Given the description of an element on the screen output the (x, y) to click on. 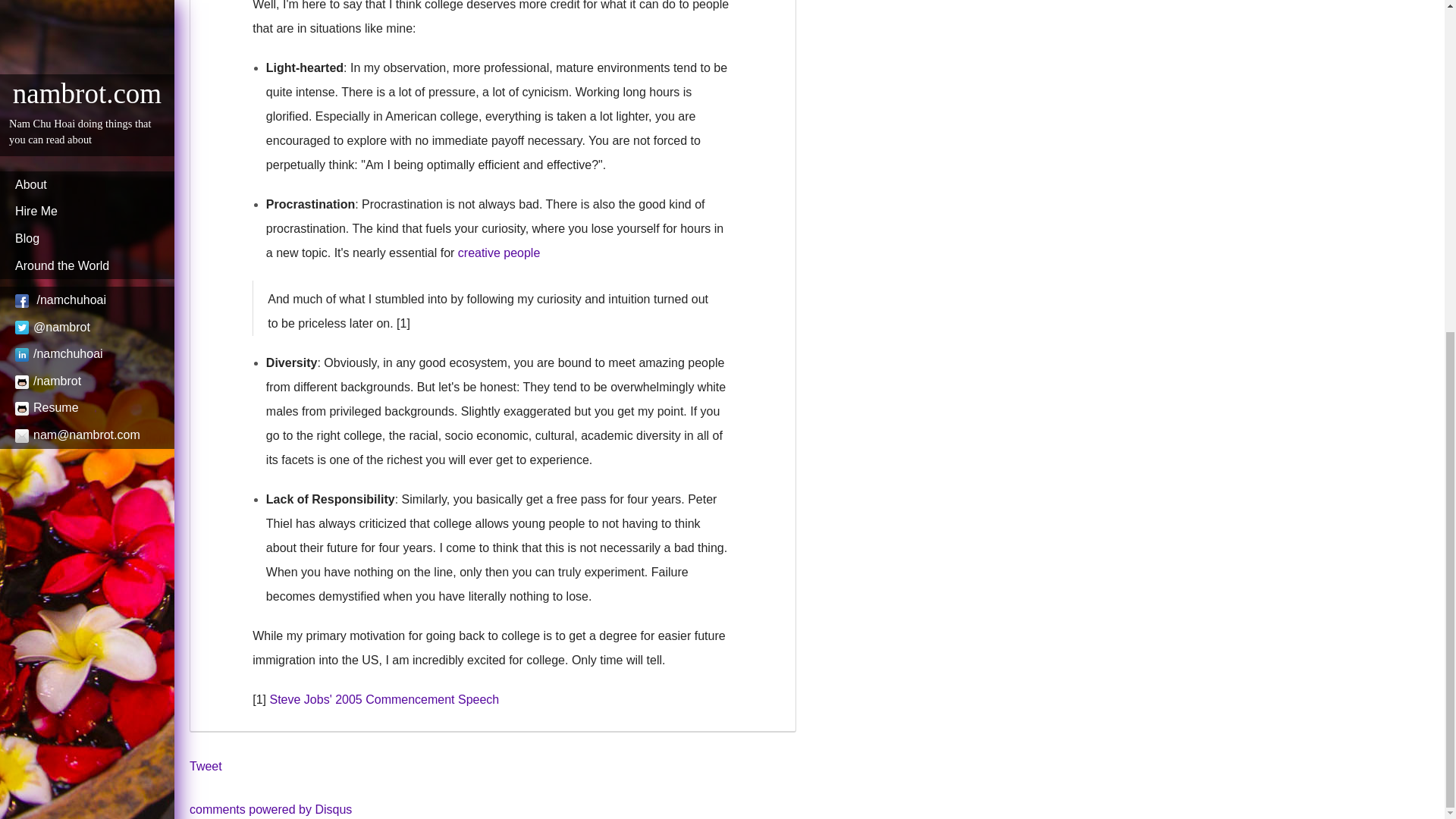
creative people (499, 252)
Tweet (205, 766)
Steve Jobs' 2005 Commencement Speech (384, 698)
comments powered by Disqus (270, 809)
